Given the description of an element on the screen output the (x, y) to click on. 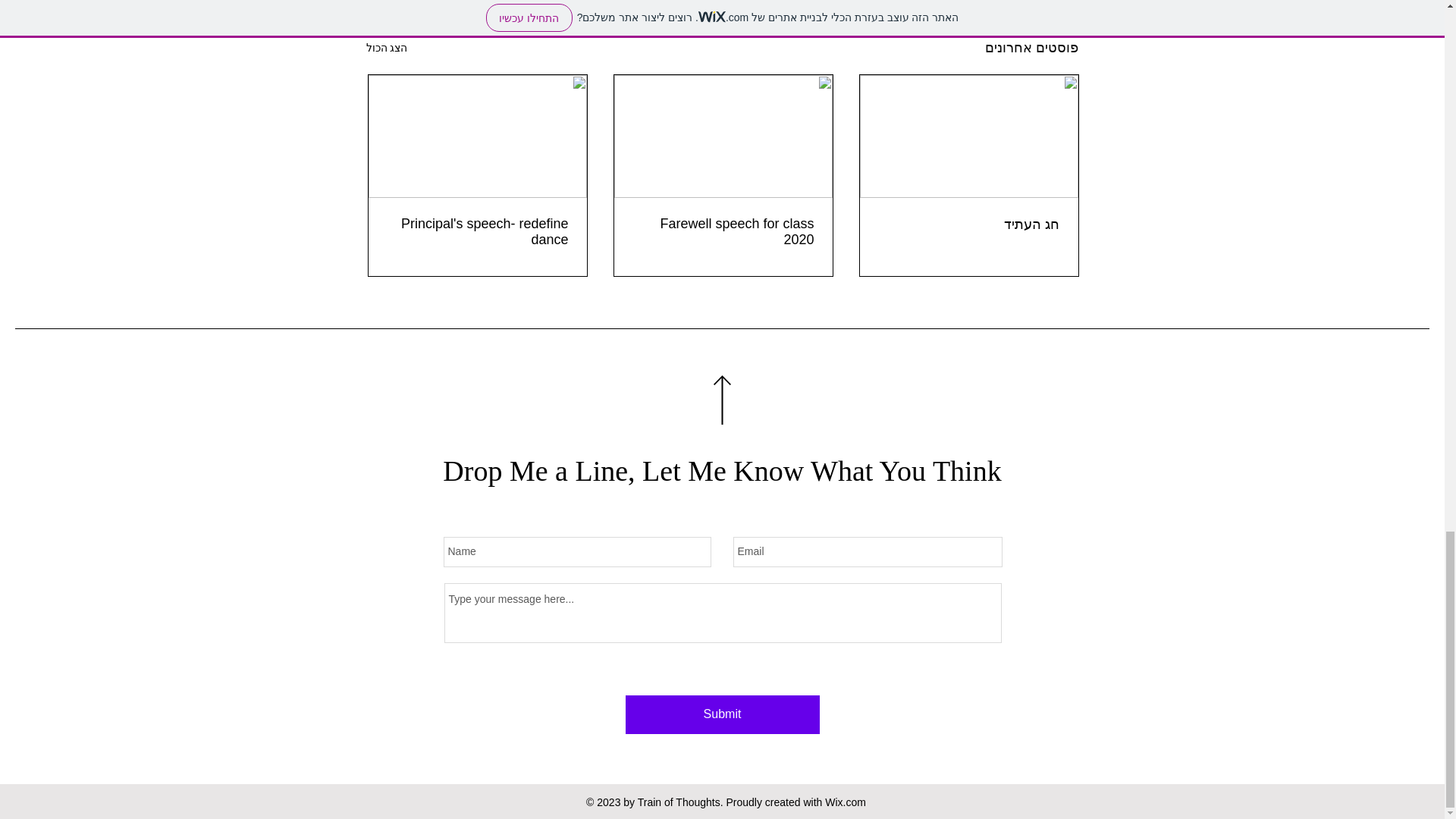
Wix.com (845, 802)
Farewell speech for class 2020 (722, 232)
Submit (721, 714)
Principal's speech- redefine dance (478, 232)
